Given the description of an element on the screen output the (x, y) to click on. 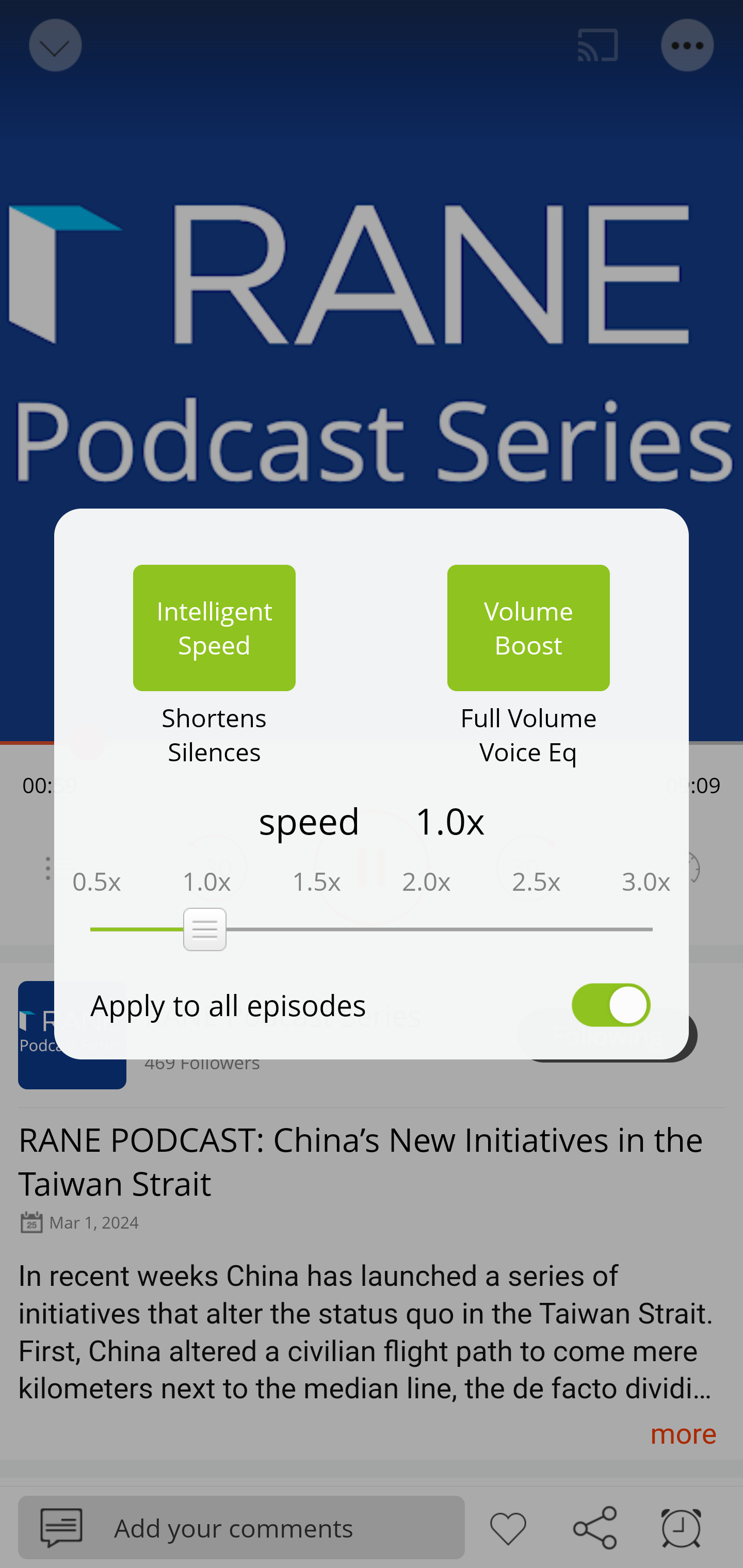
Intelligent
Speed (213, 627)
Volume
Boost (528, 627)
